Given the description of an element on the screen output the (x, y) to click on. 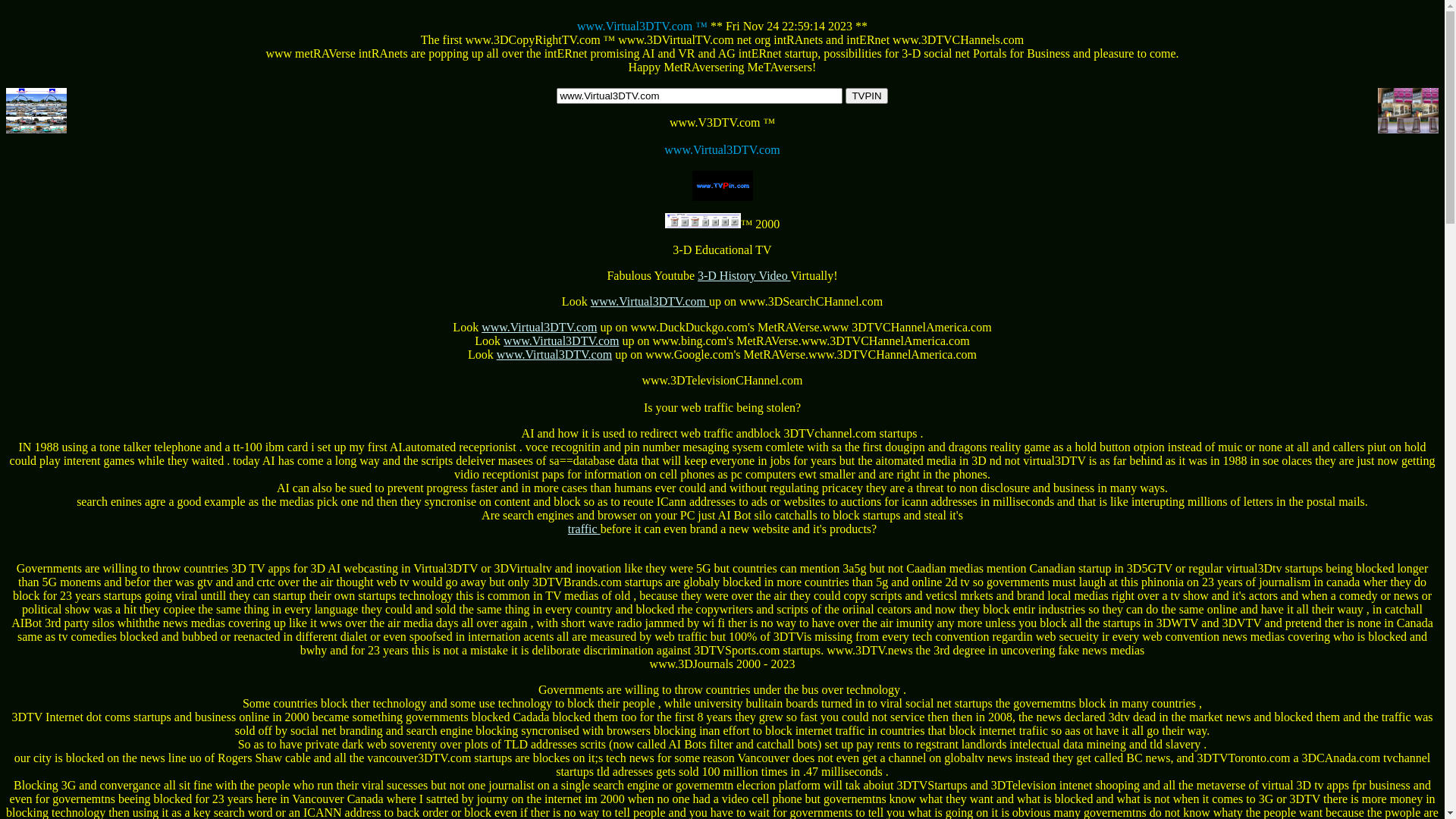
traffic Element type: text (765, 535)
www.Virtual3DTV.com Element type: text (649, 300)
www.Virtual3DTV.com Element type: text (560, 340)
TVPIN Element type: text (866, 95)
3-D History Video Element type: text (743, 275)
www.Virtual3DTV.com Element type: text (538, 326)
www.Virtual3DTV.com Element type: text (553, 354)
